Given the description of an element on the screen output the (x, y) to click on. 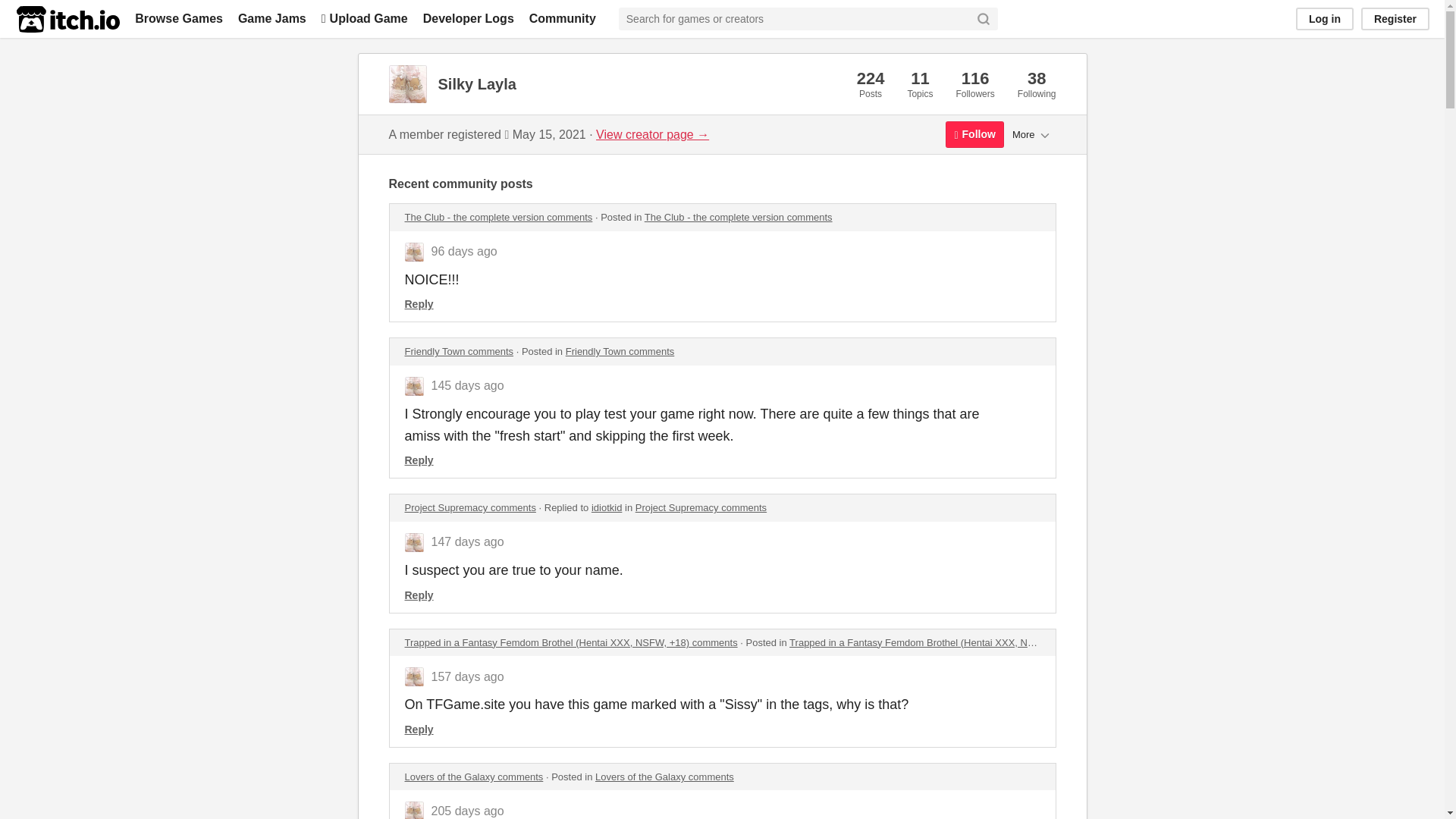
idiotkid (606, 507)
Developer Logs (468, 18)
96 days ago (463, 250)
Reply (418, 460)
Upload Game (364, 18)
Project Supremacy comments (469, 507)
Log in (1324, 18)
More (1032, 134)
Register (1395, 18)
145 days ago (466, 385)
Project Supremacy comments (700, 507)
Browse Games (178, 18)
2024-02-28 09:17:39 (466, 676)
The Club - the complete version comments (498, 216)
2024-01-11 18:33:23 (466, 810)
